Given the description of an element on the screen output the (x, y) to click on. 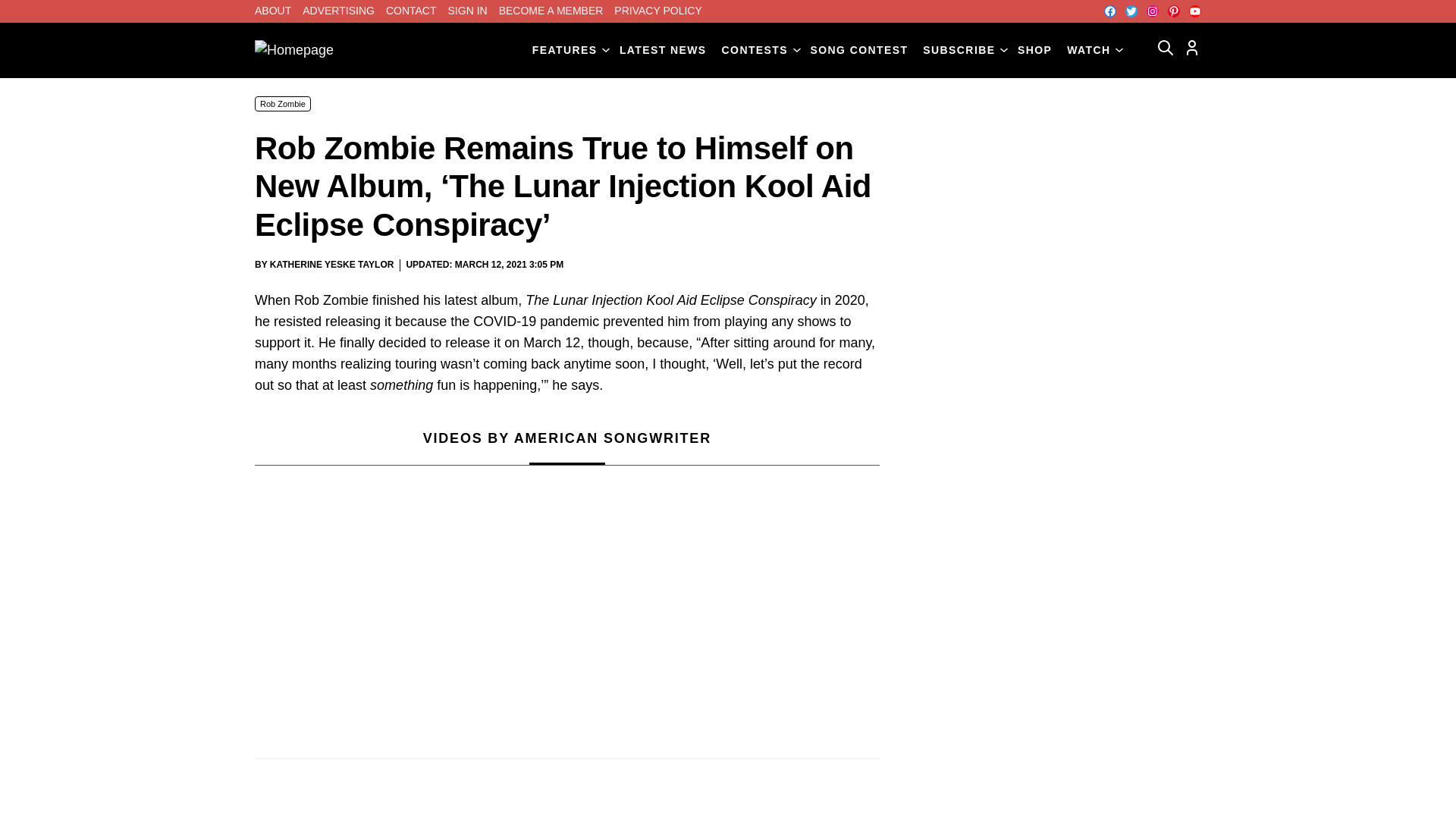
SIGN IN (467, 10)
YouTube (1195, 10)
Instagram (1152, 10)
CONTACT (410, 10)
Twitter (1131, 10)
Pinterest (1173, 10)
March 12, 2021 3:05 pm (508, 265)
Posts by Katherine Yeske Taylor (331, 264)
Facebook (1109, 10)
PRIVACY POLICY (657, 10)
